Given the description of an element on the screen output the (x, y) to click on. 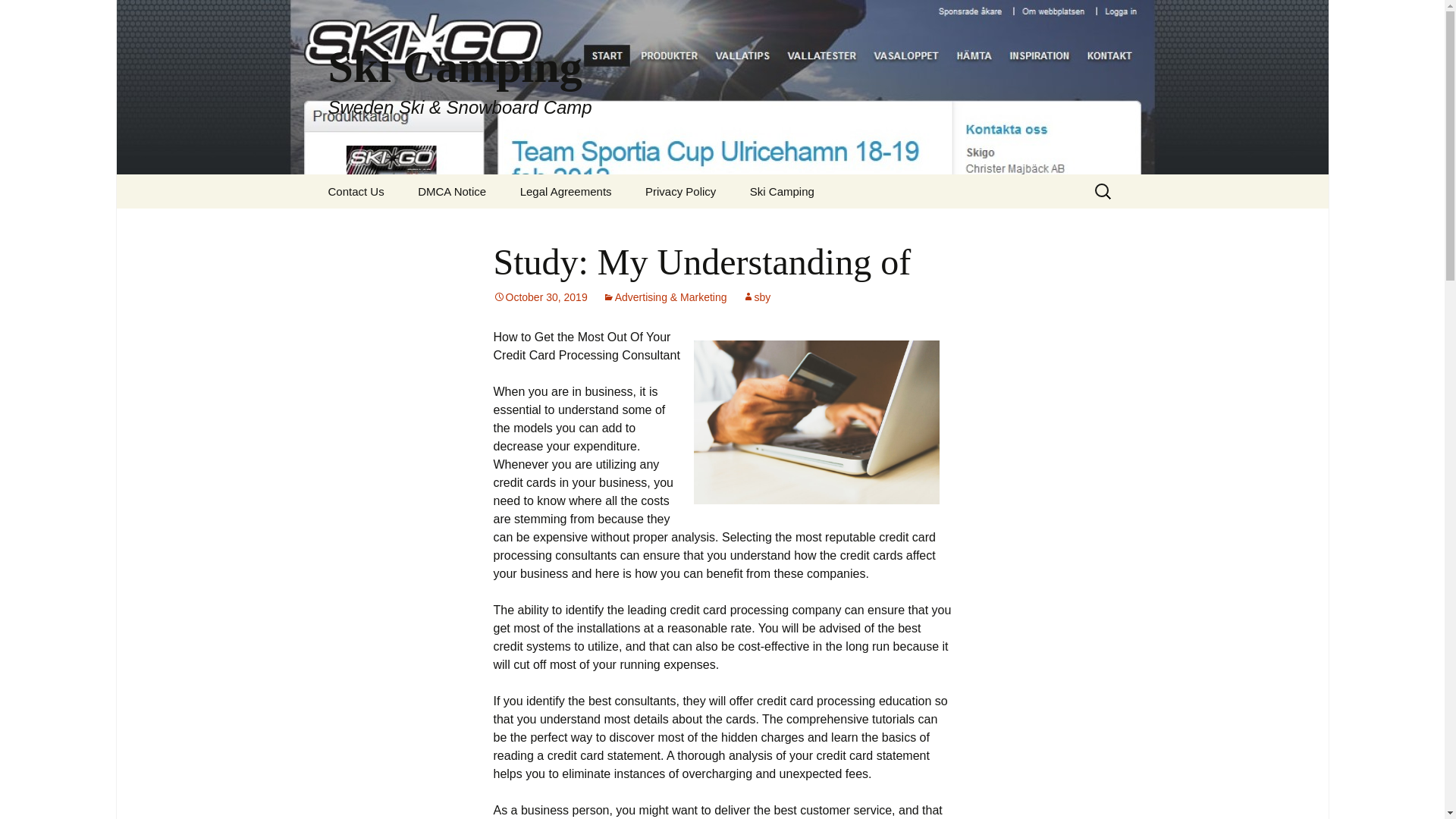
Search (34, 15)
October 30, 2019 (539, 297)
View all posts by sby (756, 297)
Ski Camping (782, 191)
Contact Us (355, 191)
Permalink to Study: My Understanding of (539, 297)
Legal Agreements (566, 191)
DMCA Notice (451, 191)
sby (756, 297)
